Given the description of an element on the screen output the (x, y) to click on. 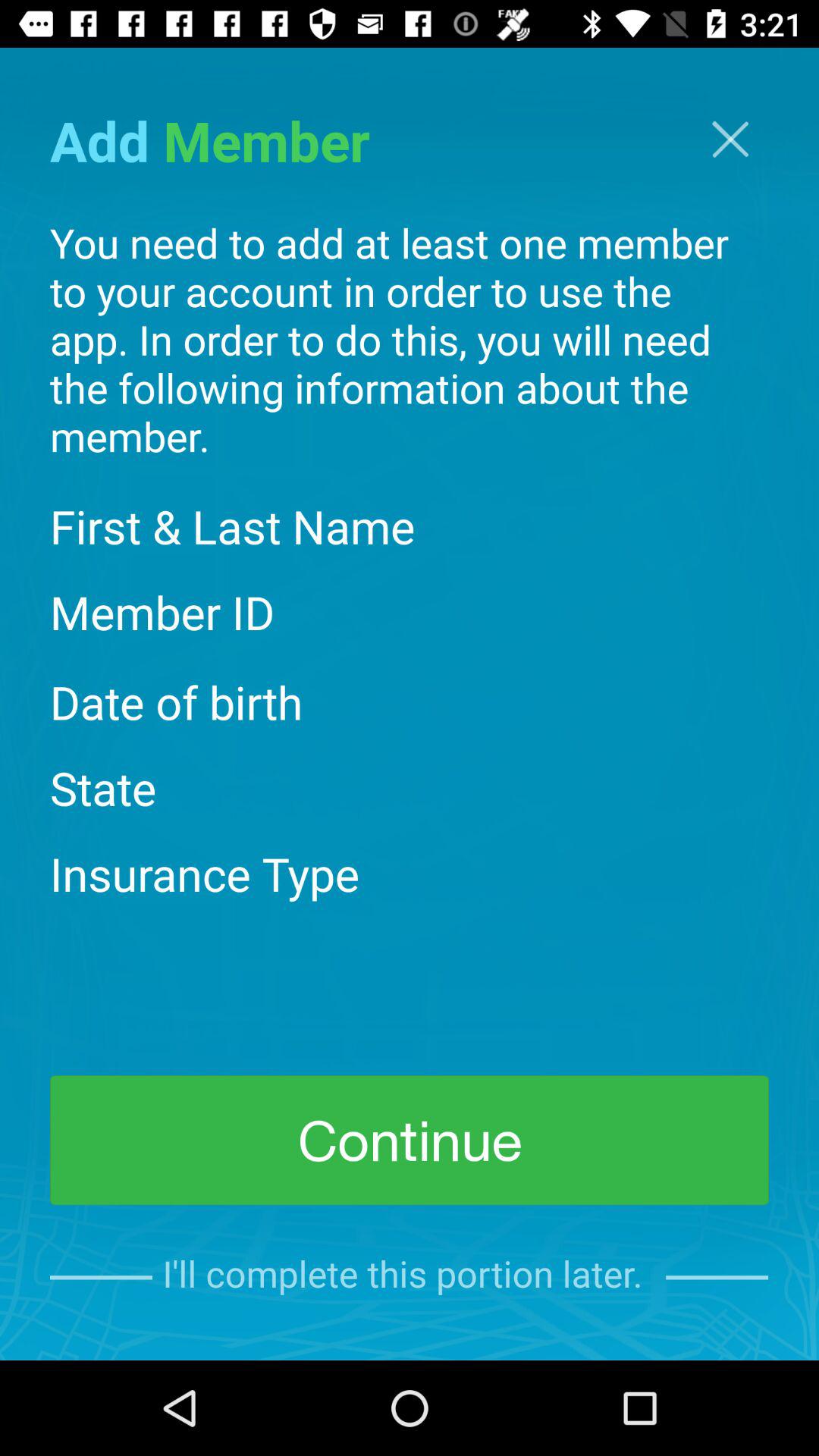
launch i ll complete item (409, 1277)
